Given the description of an element on the screen output the (x, y) to click on. 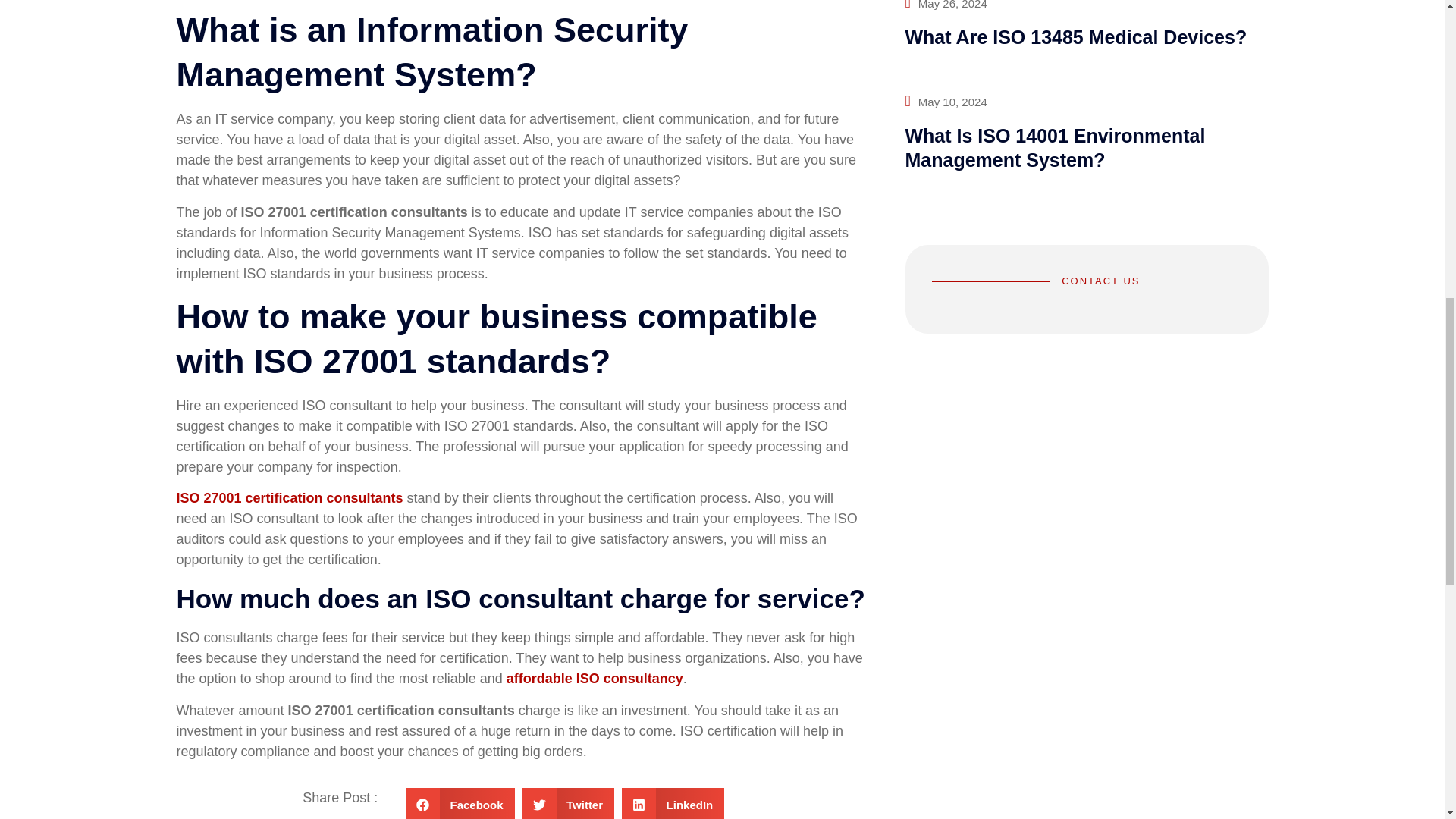
What Are ISO 13485 Medical Devices? (1076, 36)
affordable ISO consultancy (594, 678)
ISO 27001 certification consultants (289, 498)
